Given the description of an element on the screen output the (x, y) to click on. 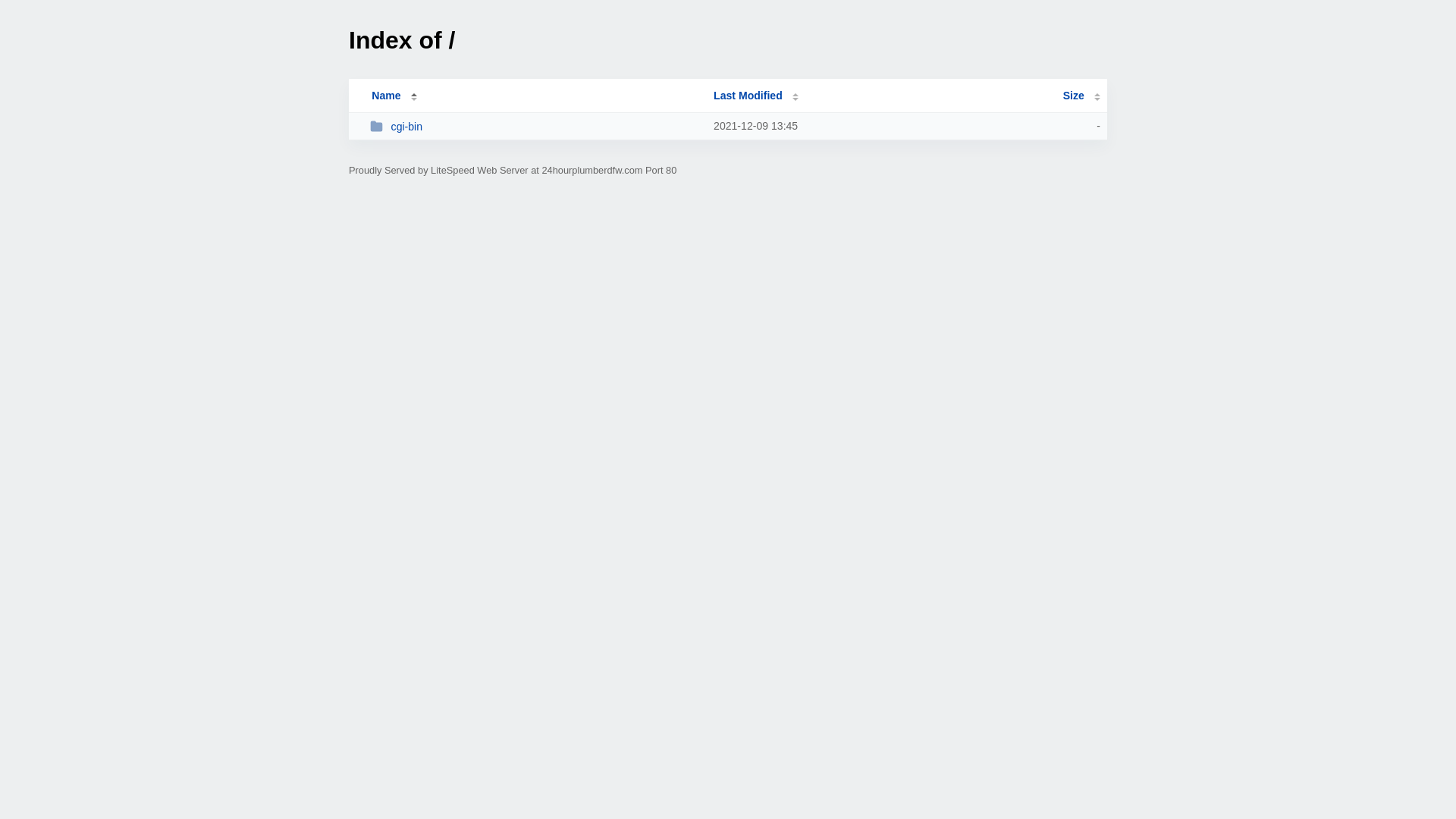
Name Element type: text (385, 95)
Size Element type: text (1081, 95)
Last Modified Element type: text (755, 95)
cgi-bin Element type: text (534, 125)
